Given the description of an element on the screen output the (x, y) to click on. 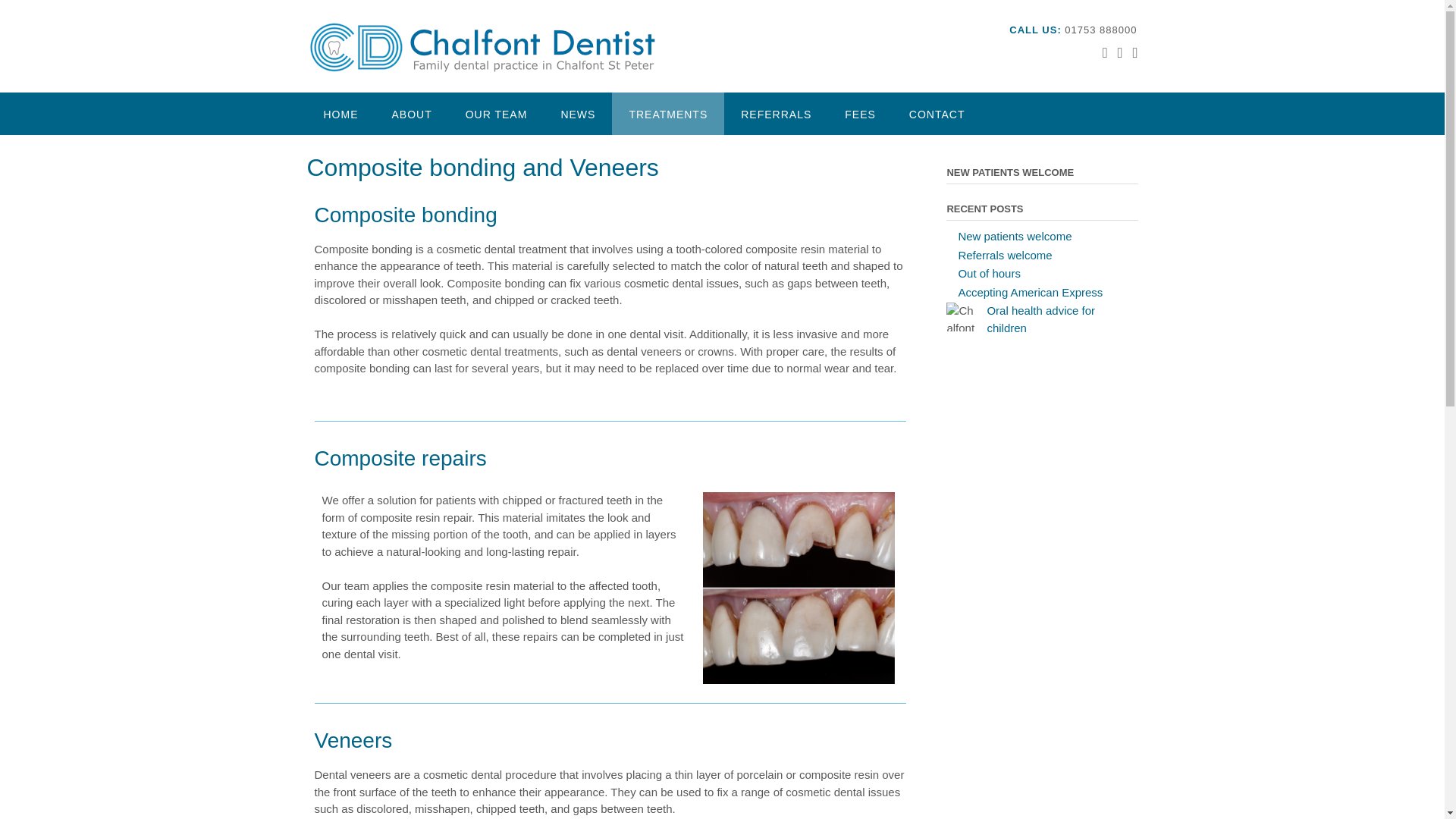
Accepting American Express (1030, 291)
Referrals welcome (1004, 254)
FEES (860, 113)
Oral health advice for children (1040, 318)
REFERRALS (775, 113)
OUR TEAM (496, 113)
TREATMENTS (667, 113)
HOME (339, 113)
CONTACT (936, 113)
Out of hours (989, 273)
